Given the description of an element on the screen output the (x, y) to click on. 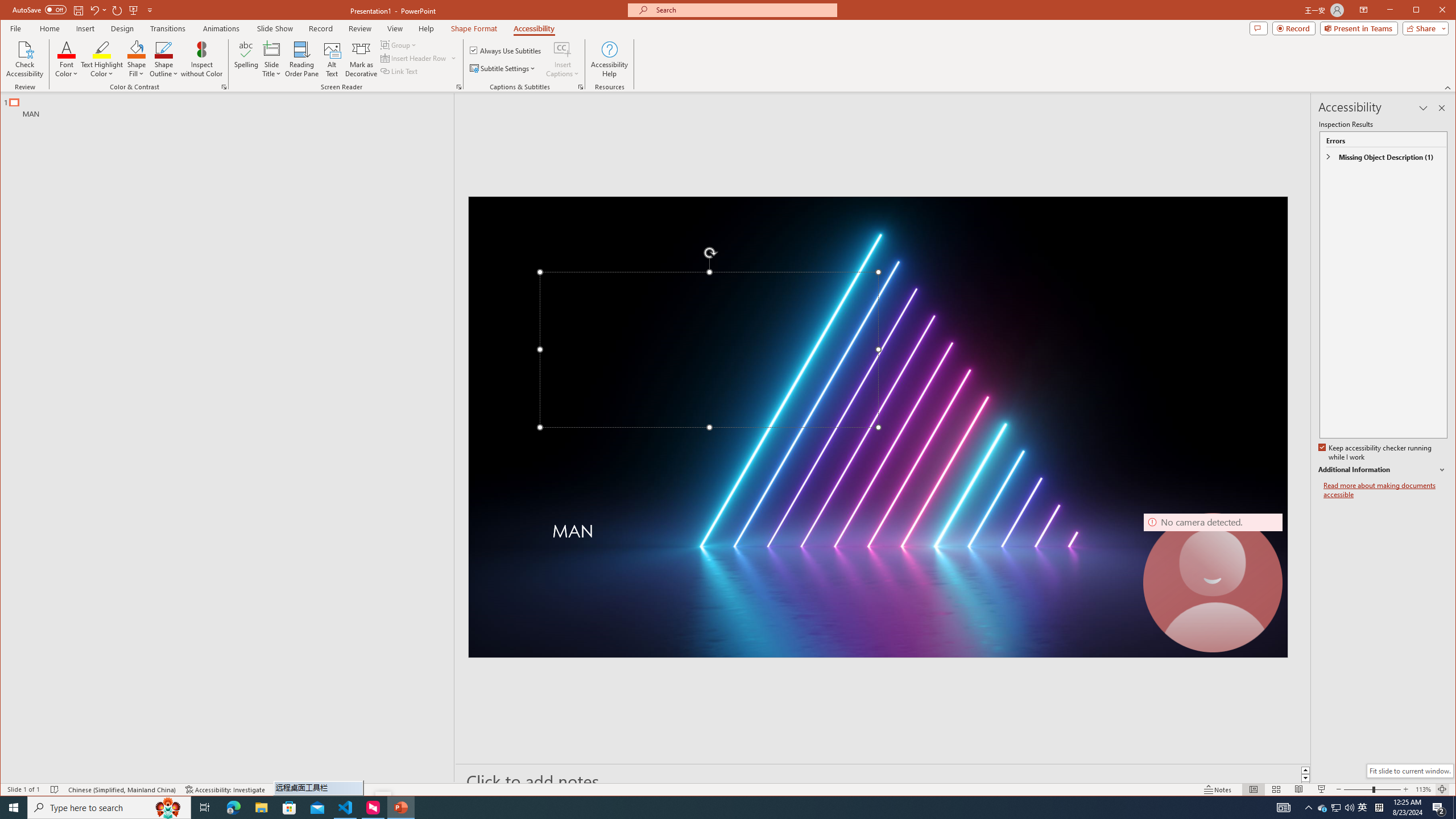
Shape Outline Blue, Accent 1 (163, 48)
Link Text (399, 70)
Mark as Decorative (360, 59)
